Given the description of an element on the screen output the (x, y) to click on. 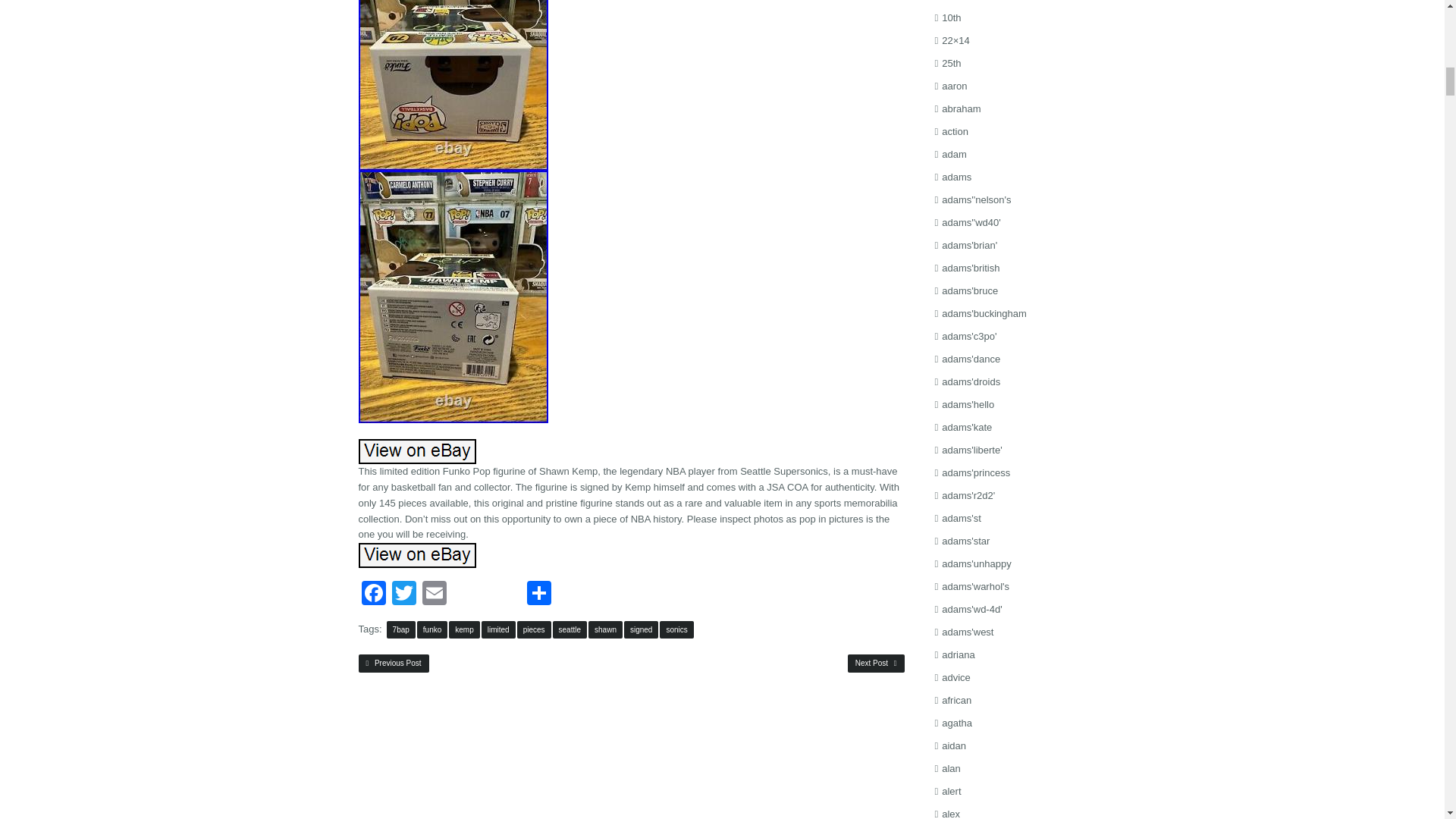
signed (641, 629)
seattle (569, 629)
7bap (400, 629)
shawn (605, 629)
Next Post (875, 663)
Email (433, 592)
limited (498, 629)
pieces (533, 629)
Twitter (403, 592)
sonics (676, 629)
